Given the description of an element on the screen output the (x, y) to click on. 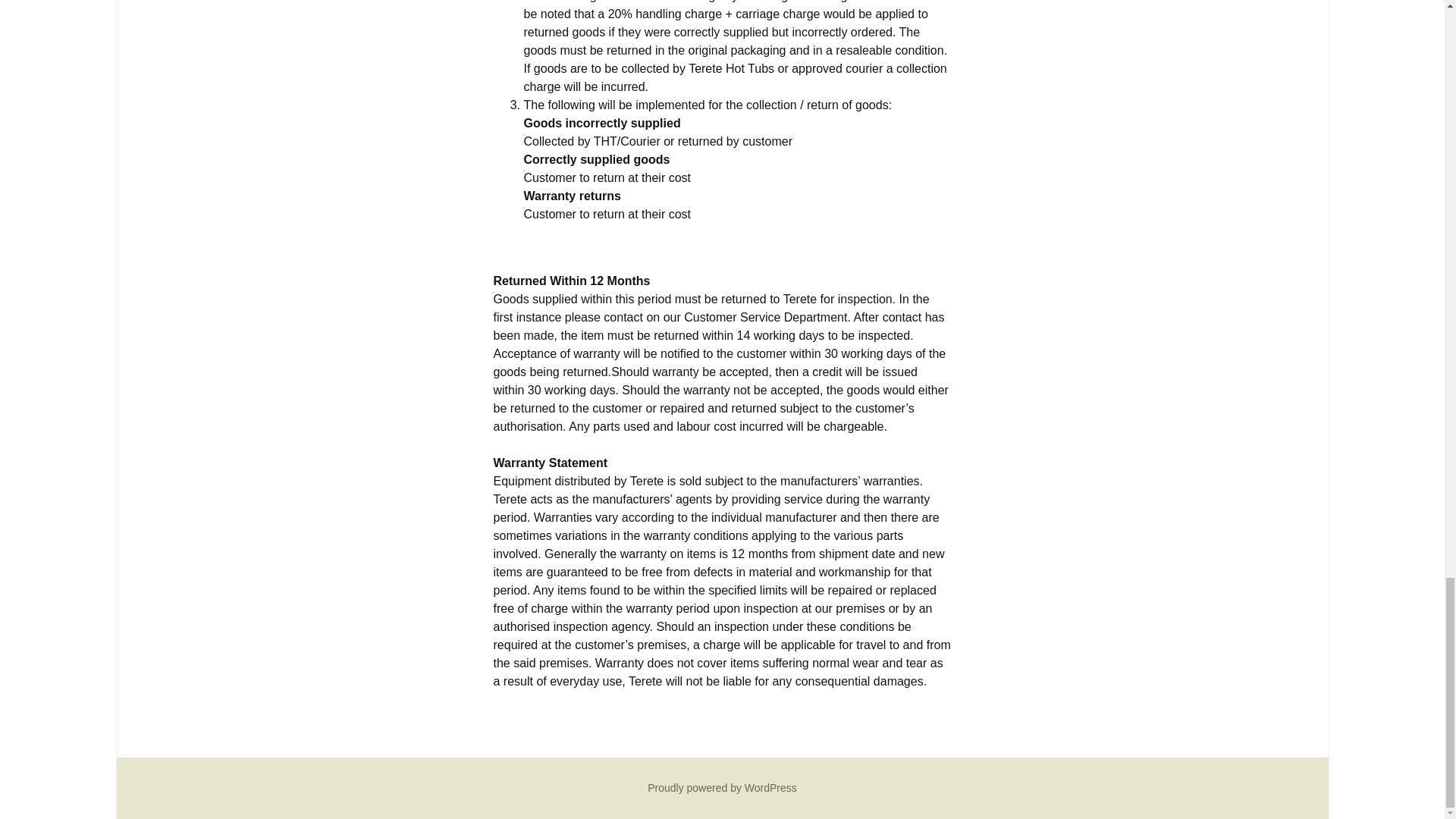
Proudly powered by WordPress (721, 787)
